Given the description of an element on the screen output the (x, y) to click on. 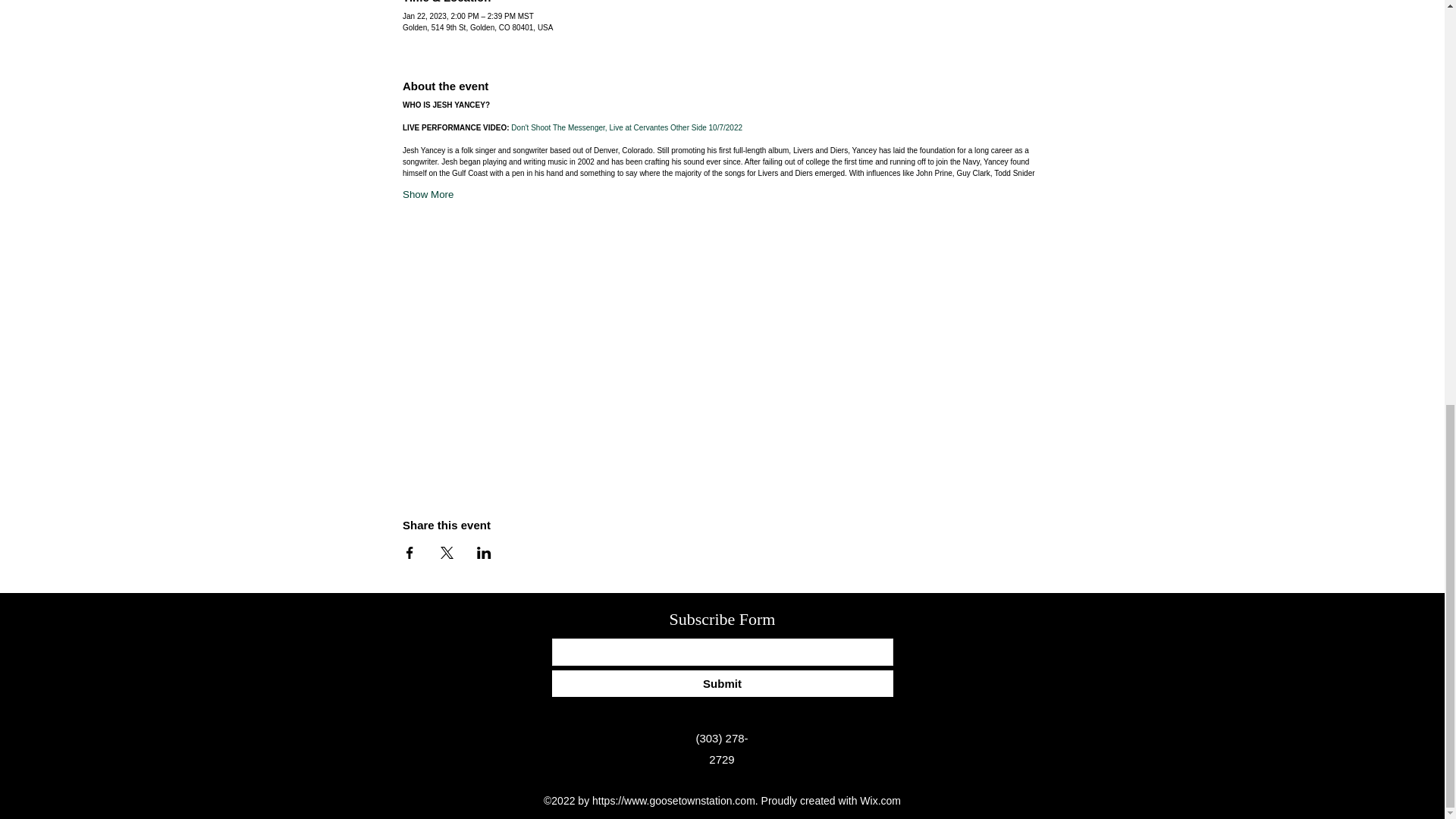
Show More (427, 194)
Submit (722, 683)
www.goosetownstation.com (689, 800)
